Given the description of an element on the screen output the (x, y) to click on. 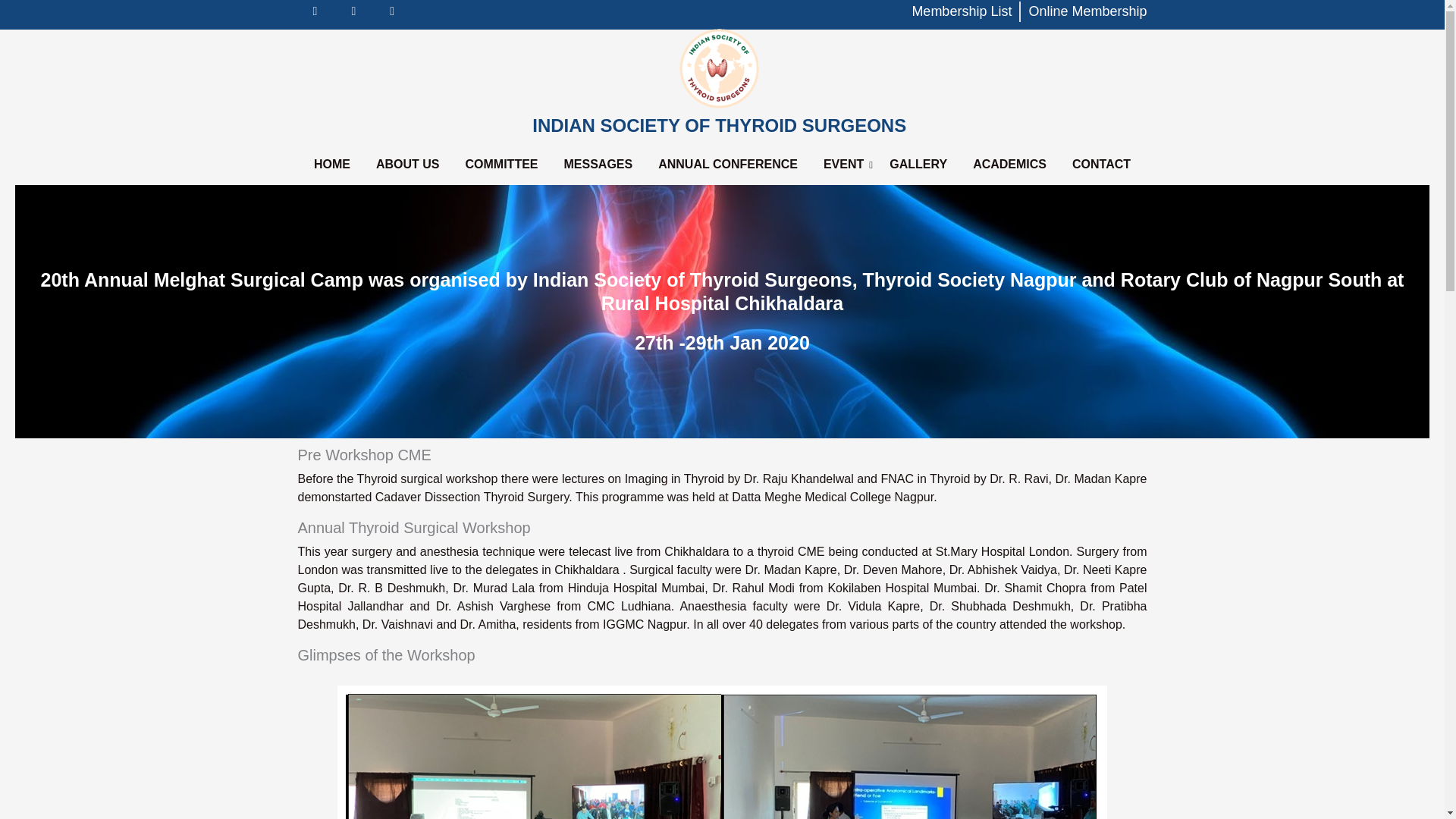
COMMITTEE (501, 164)
HOME (331, 164)
Online Membership (1087, 11)
Membership List (961, 11)
ANNUAL CONFERENCE (727, 164)
ACADEMICS (1009, 164)
MESSAGES (598, 164)
ABOUT US (407, 164)
GALLERY (918, 164)
CONTACT (1100, 164)
